Given the description of an element on the screen output the (x, y) to click on. 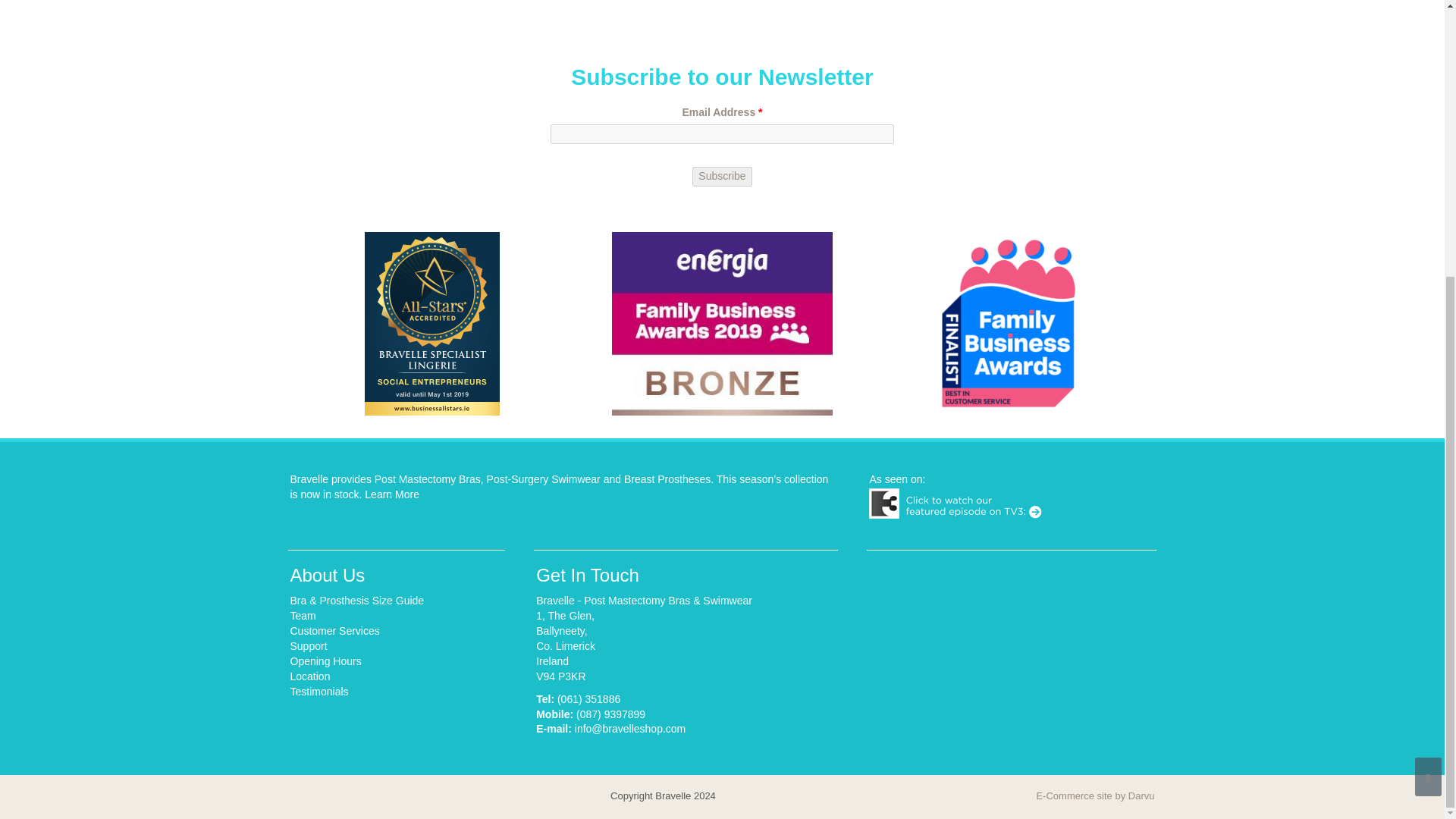
Subscribe (722, 176)
Testimonials (318, 691)
Location (309, 676)
Opening Hours (325, 661)
Subscribe (722, 176)
Support (307, 645)
Learn More (392, 494)
Customer Services (333, 630)
Team (302, 615)
